Given the description of an element on the screen output the (x, y) to click on. 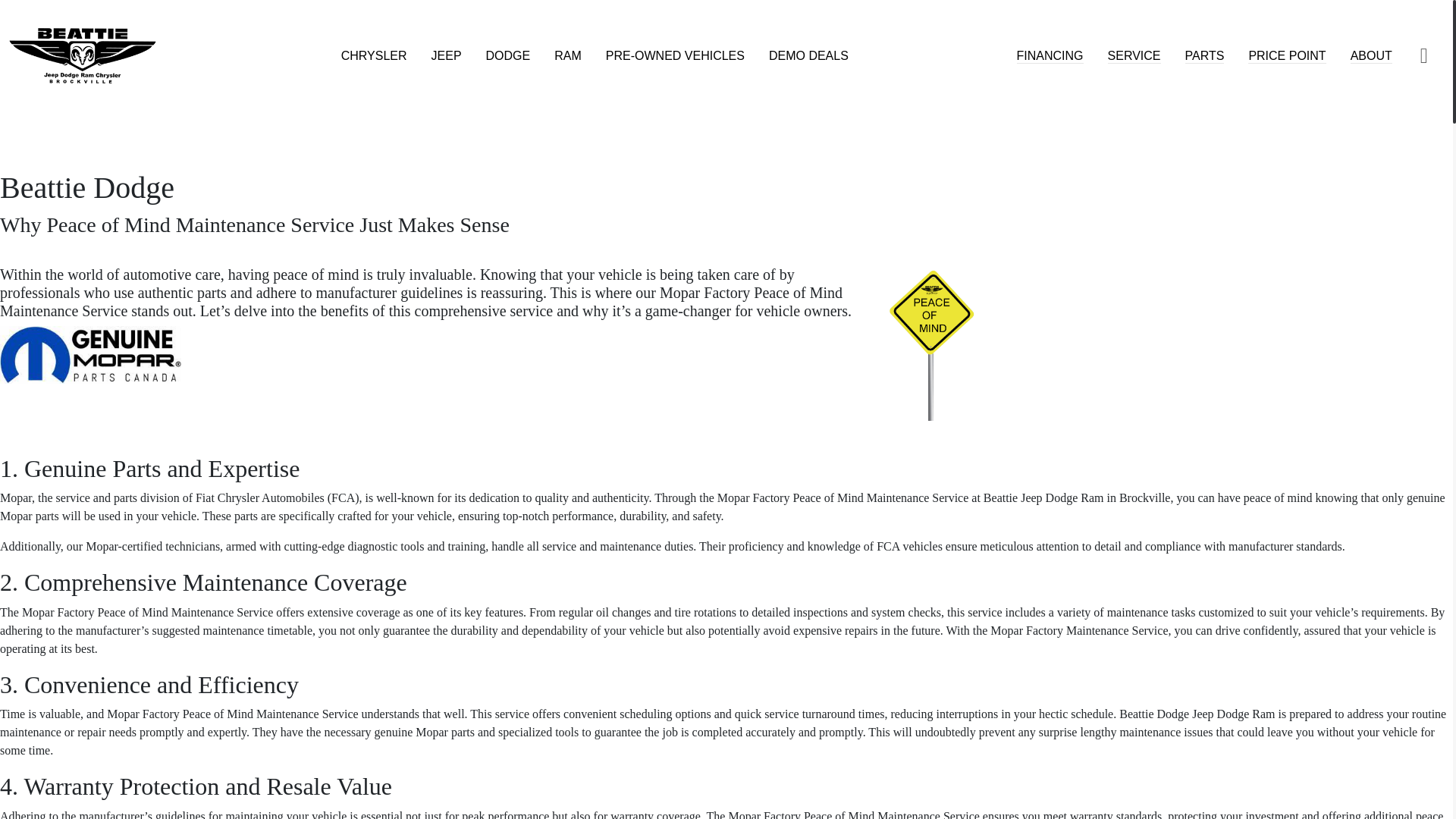
PRE-OWNED VEHICLES (674, 55)
CHRYSLER (373, 55)
RAM (567, 55)
DODGE (508, 55)
JEEP (445, 55)
